Given the description of an element on the screen output the (x, y) to click on. 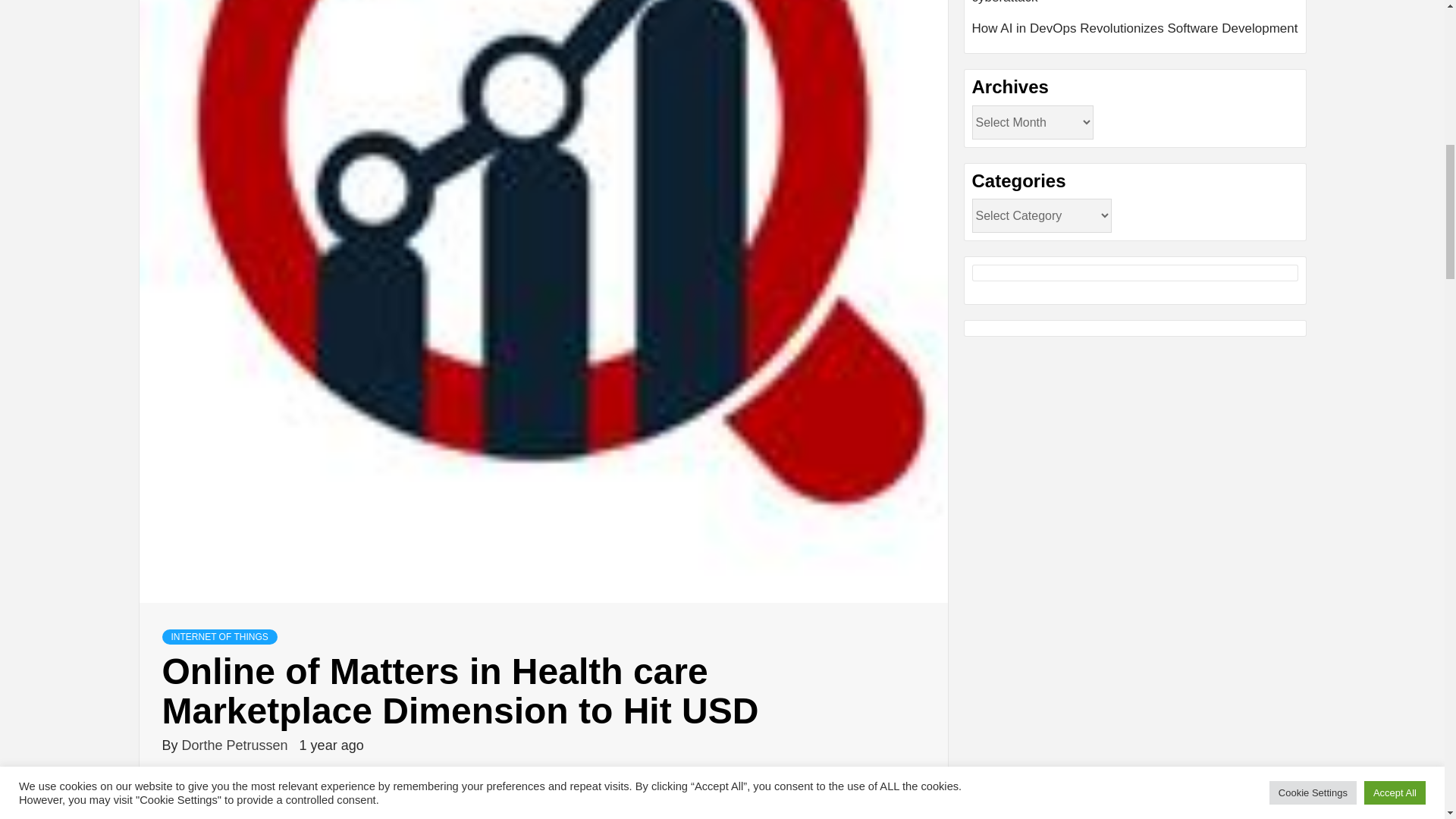
INTERNET OF THINGS (219, 636)
How AI in DevOps Revolutionizes Software Development (1135, 28)
Dorthe Petrussen (237, 744)
